Given the description of an element on the screen output the (x, y) to click on. 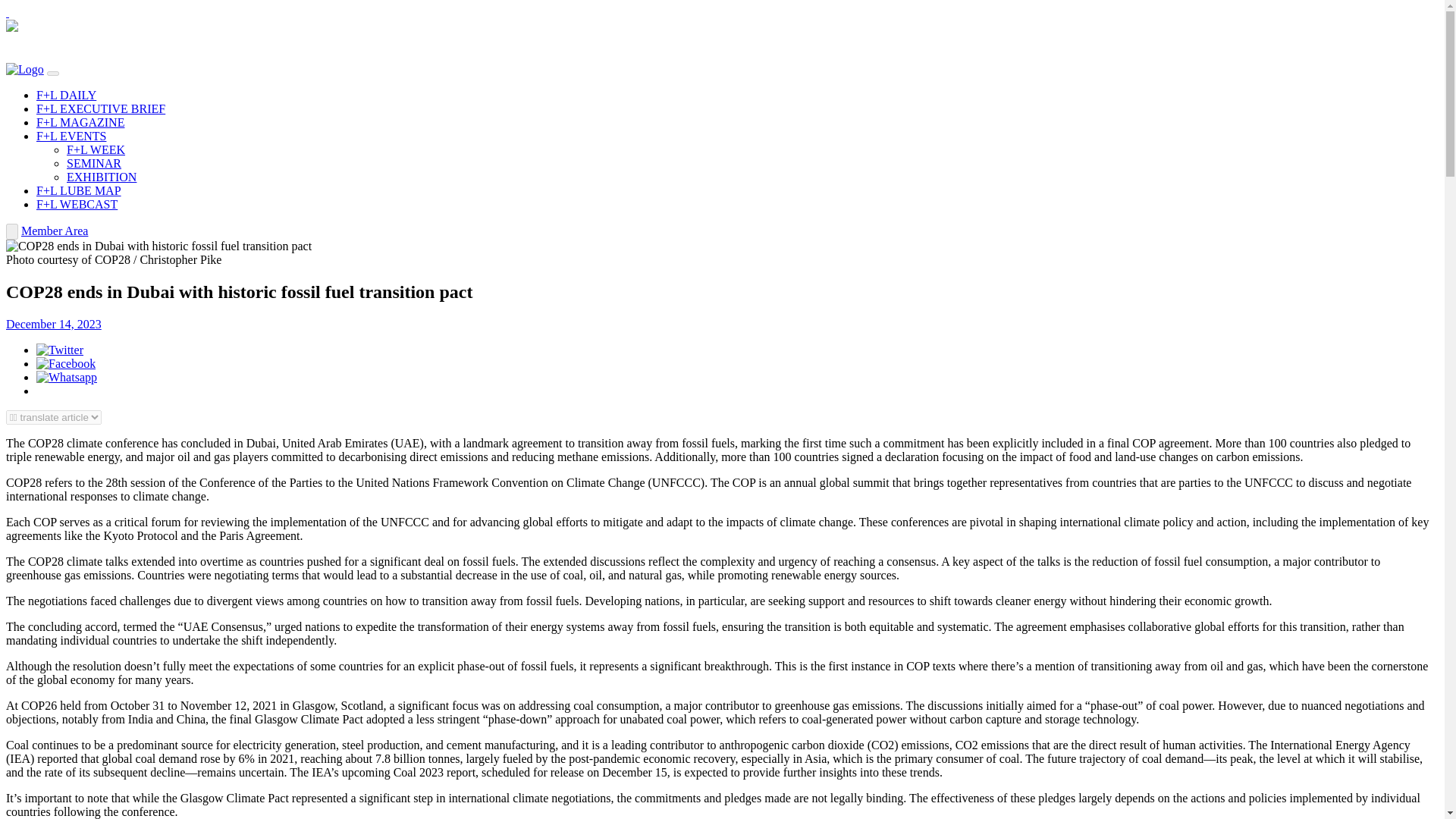
SEMINAR (93, 163)
EXHIBITION (101, 176)
Member Area (54, 230)
December 14, 2023 (53, 323)
